Given the description of an element on the screen output the (x, y) to click on. 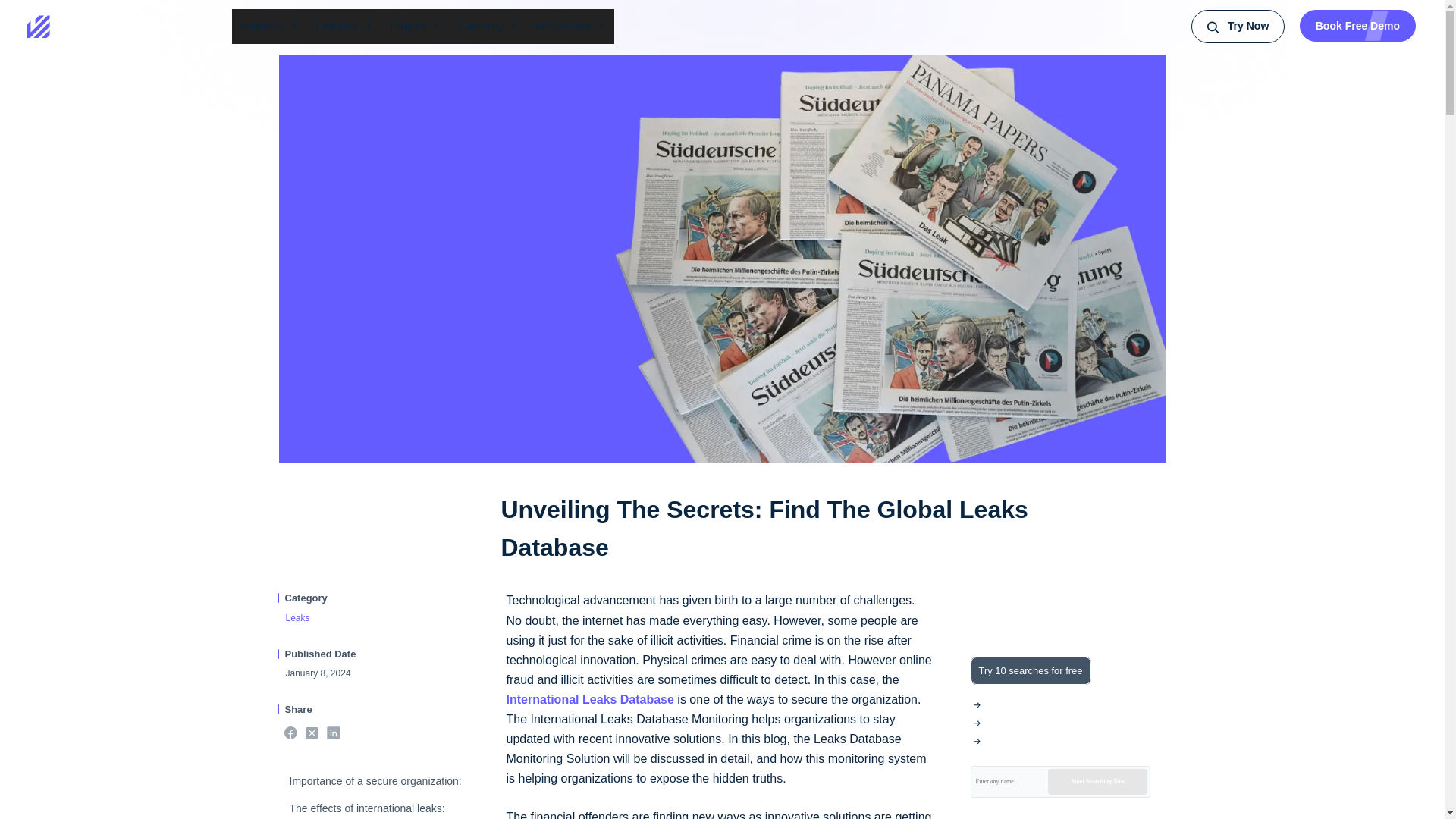
Solutions (269, 26)
Start Searching Now (1097, 781)
Features (344, 26)
